Given the description of an element on the screen output the (x, y) to click on. 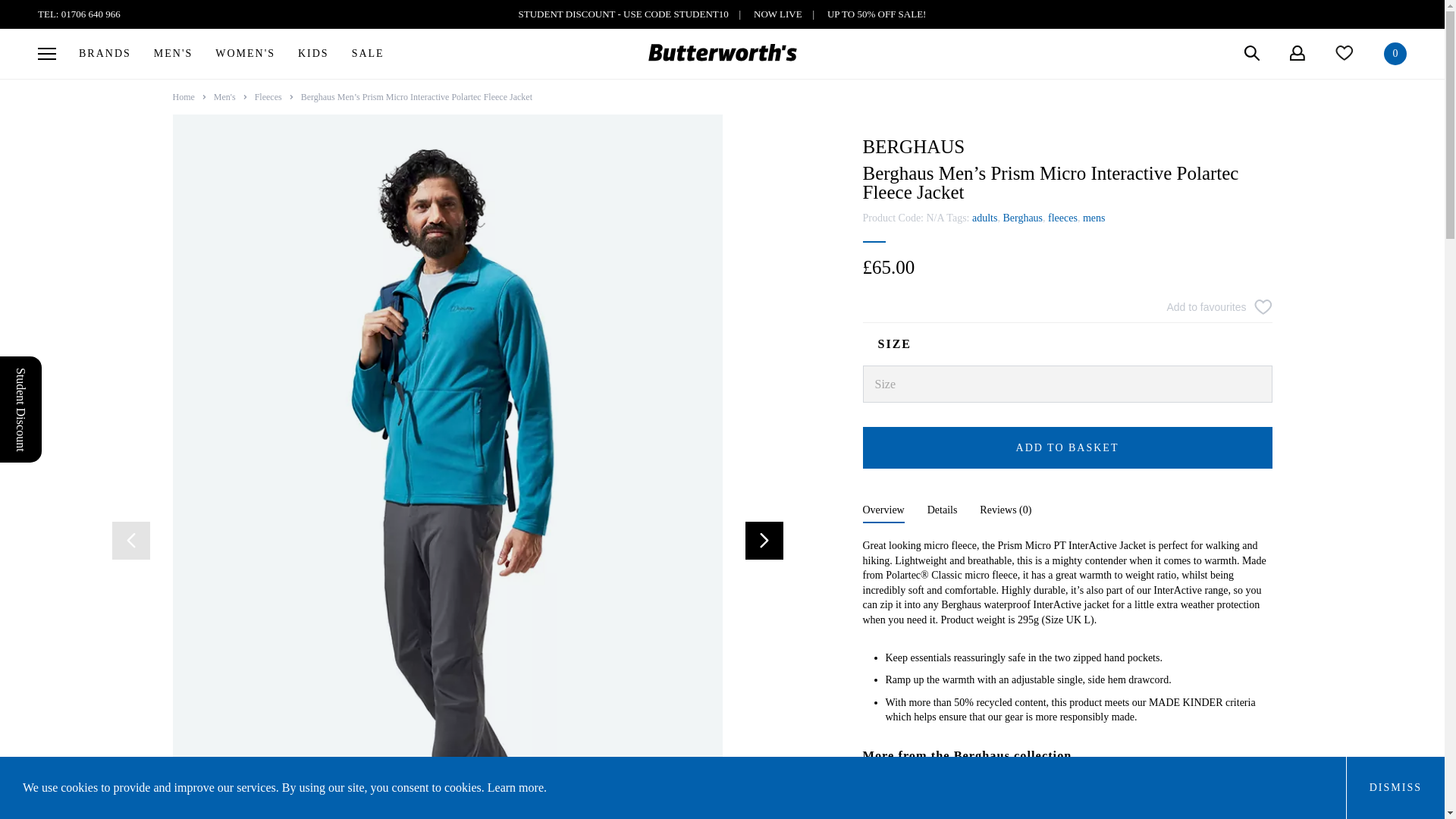
SALE (368, 53)
KIDS (313, 53)
WOMEN'S (244, 53)
BRANDS (104, 53)
MEN'S (172, 53)
0 (1395, 53)
